Given the description of an element on the screen output the (x, y) to click on. 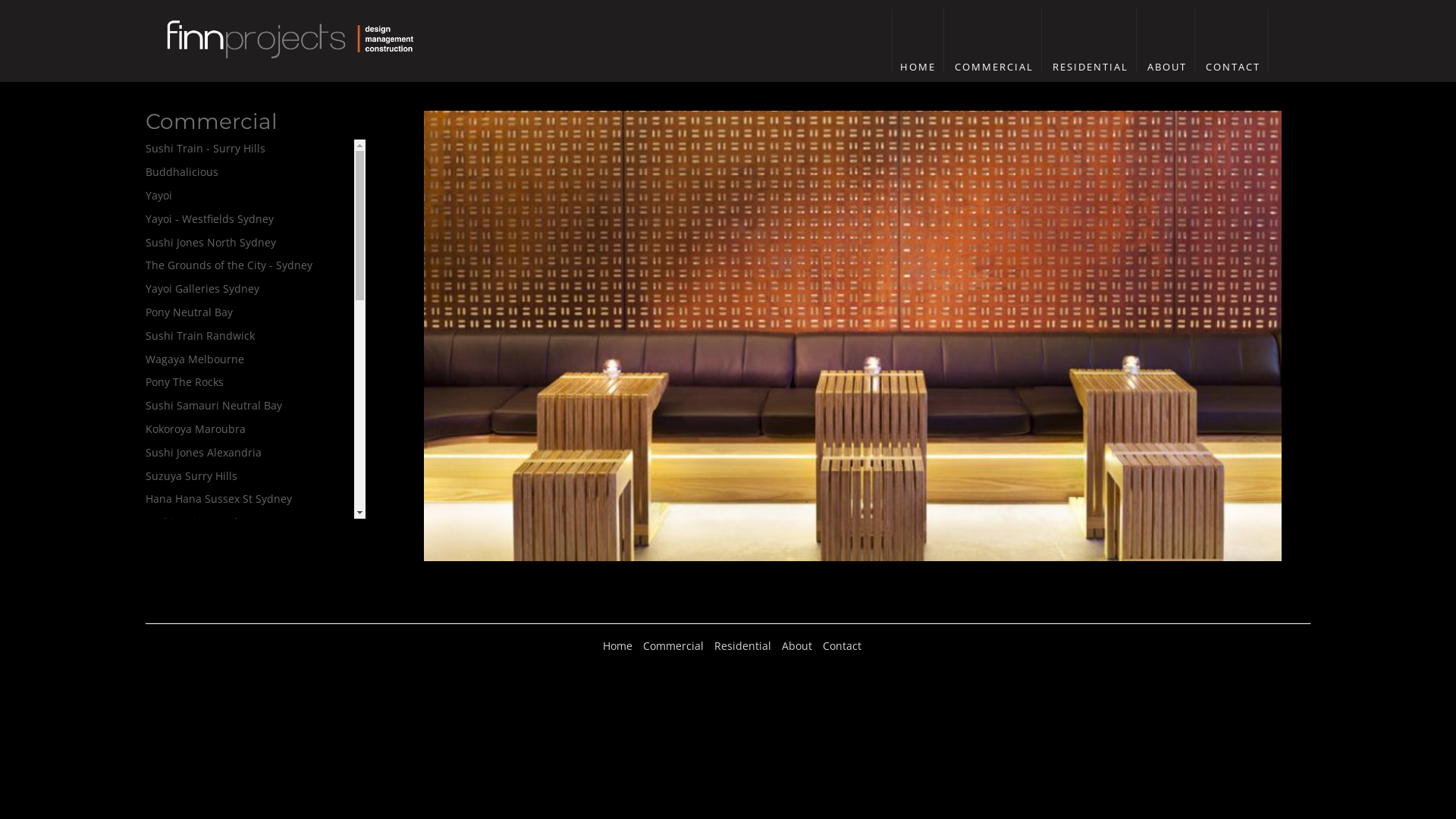
COMMERCIAL Element type: text (993, 66)
Sushi Train Deewhy Element type: text (195, 521)
Manpuku Chatswood Element type: text (199, 750)
Yayoi Element type: text (158, 195)
Gohan Rose Bay Element type: text (186, 615)
HOME Element type: text (917, 66)
Contact Element type: text (841, 645)
Mappen Bondi Junction Element type: text (205, 797)
Losurdo Deli North Sydney Element type: text (213, 726)
Sushi Train Bondi Junction Element type: text (212, 568)
Buddhalicious Element type: text (181, 171)
RESIDENTIAL Element type: text (1090, 66)
Sushi Train - Surry Hills Element type: text (205, 148)
Yayoi - Westfields Sydney Element type: text (209, 218)
Sushi Jones North Sydney Element type: text (210, 242)
Manpuku Kingsford Element type: text (195, 773)
Zeus Drummoyne Element type: text (190, 545)
Yayoi Galleries Sydney Element type: text (202, 288)
Residential Element type: text (742, 645)
Kokoroya Maroubra Element type: text (195, 428)
Janus Potts Point Element type: text (187, 680)
Hachi Bei Japanese Bistro and Tapas, Rose Bay Element type: text (239, 647)
Sushi Train Randwick Element type: text (199, 335)
The Grounds of the City - Sydney Element type: text (228, 264)
Suzuya Surry Hills Element type: text (191, 475)
ABOUT Element type: text (1166, 66)
CONTACT Element type: text (1232, 66)
Pony Neutral Bay Element type: text (188, 311)
About Element type: text (796, 645)
Home Element type: text (616, 645)
Commercial Element type: text (673, 645)
Sushi Samauri Neutral Bay Element type: text (213, 405)
Pony The Rocks Element type: text (184, 381)
Wagaya Melbourne Element type: text (194, 358)
Kurra Sydney Element type: text (179, 703)
Hana Hana Sussex St Sydney Element type: text (218, 498)
Sushi Jones Alexandria Element type: text (203, 452)
